Given the description of an element on the screen output the (x, y) to click on. 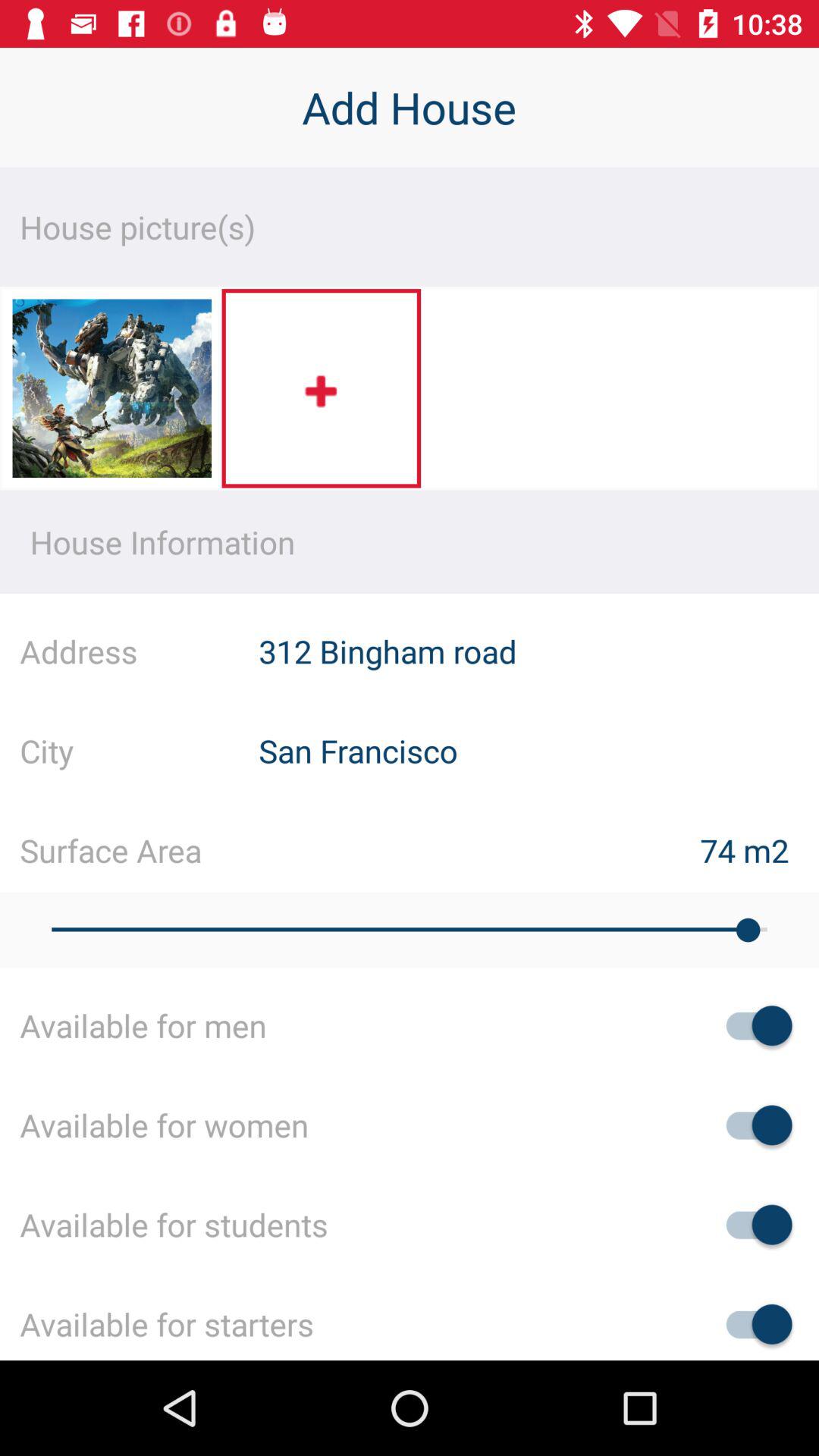
launch the item above the house information item (111, 393)
